Given the description of an element on the screen output the (x, y) to click on. 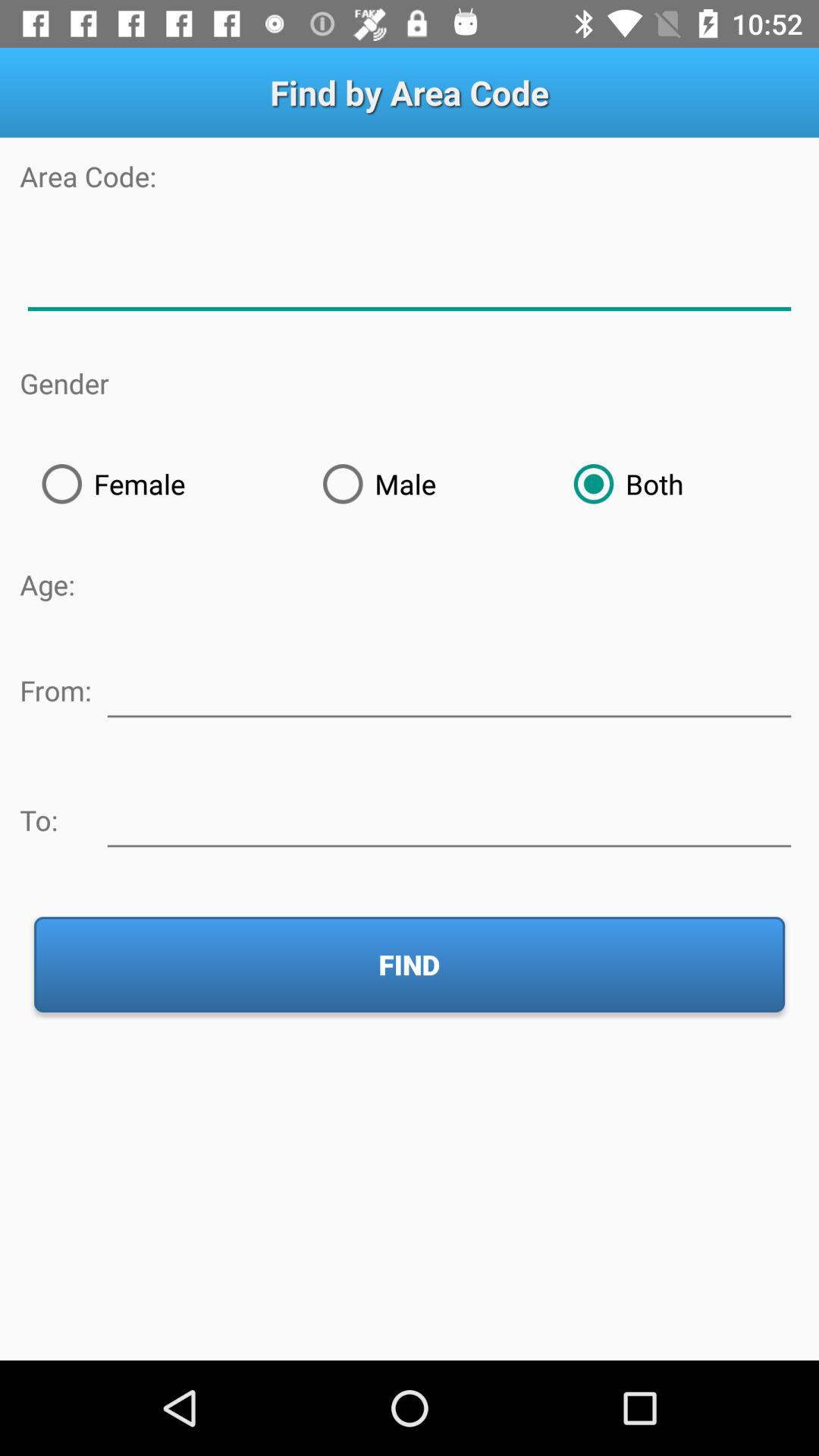
swipe until female (160, 483)
